Given the description of an element on the screen output the (x, y) to click on. 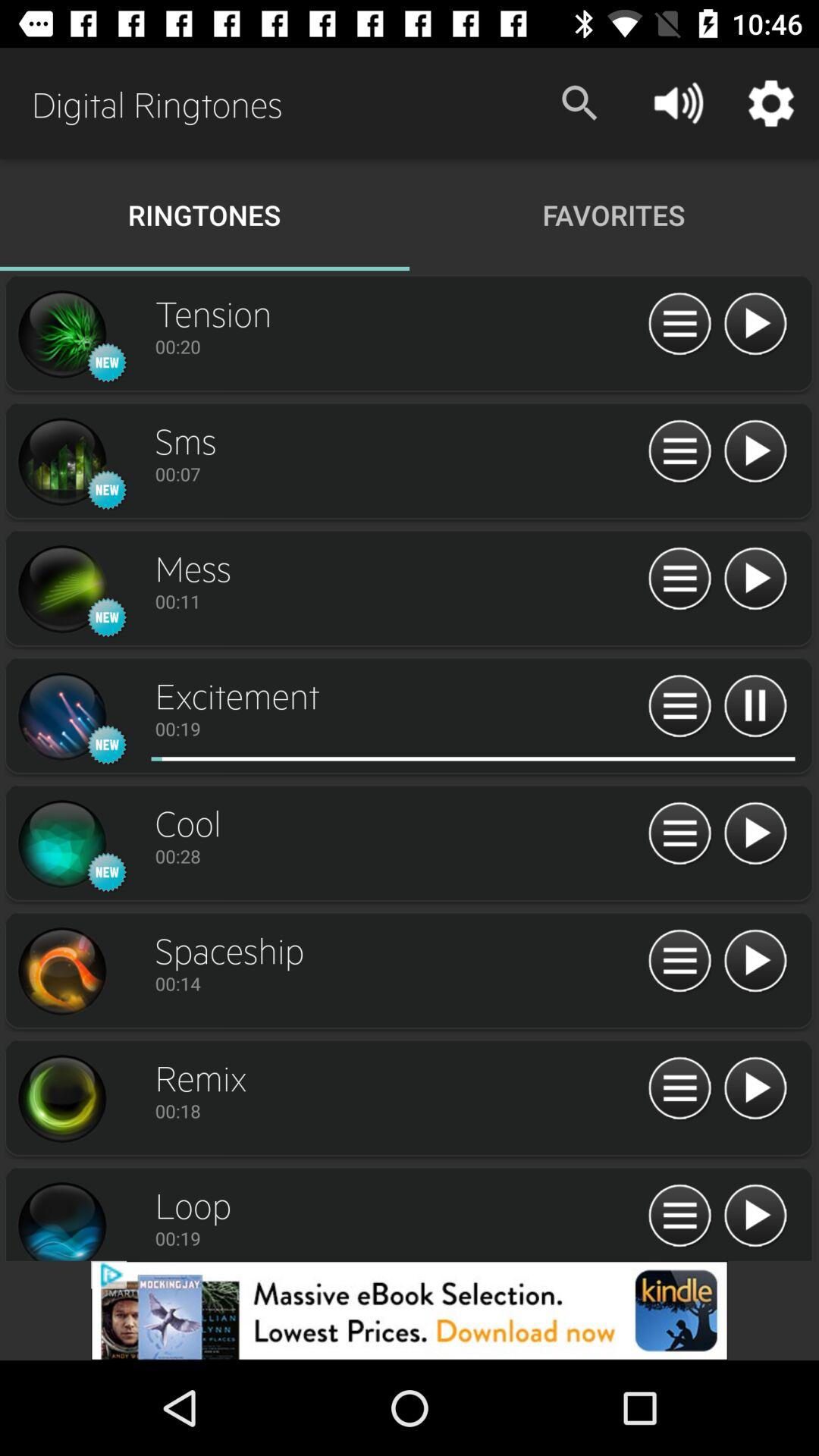
play button (755, 1088)
